Given the description of an element on the screen output the (x, y) to click on. 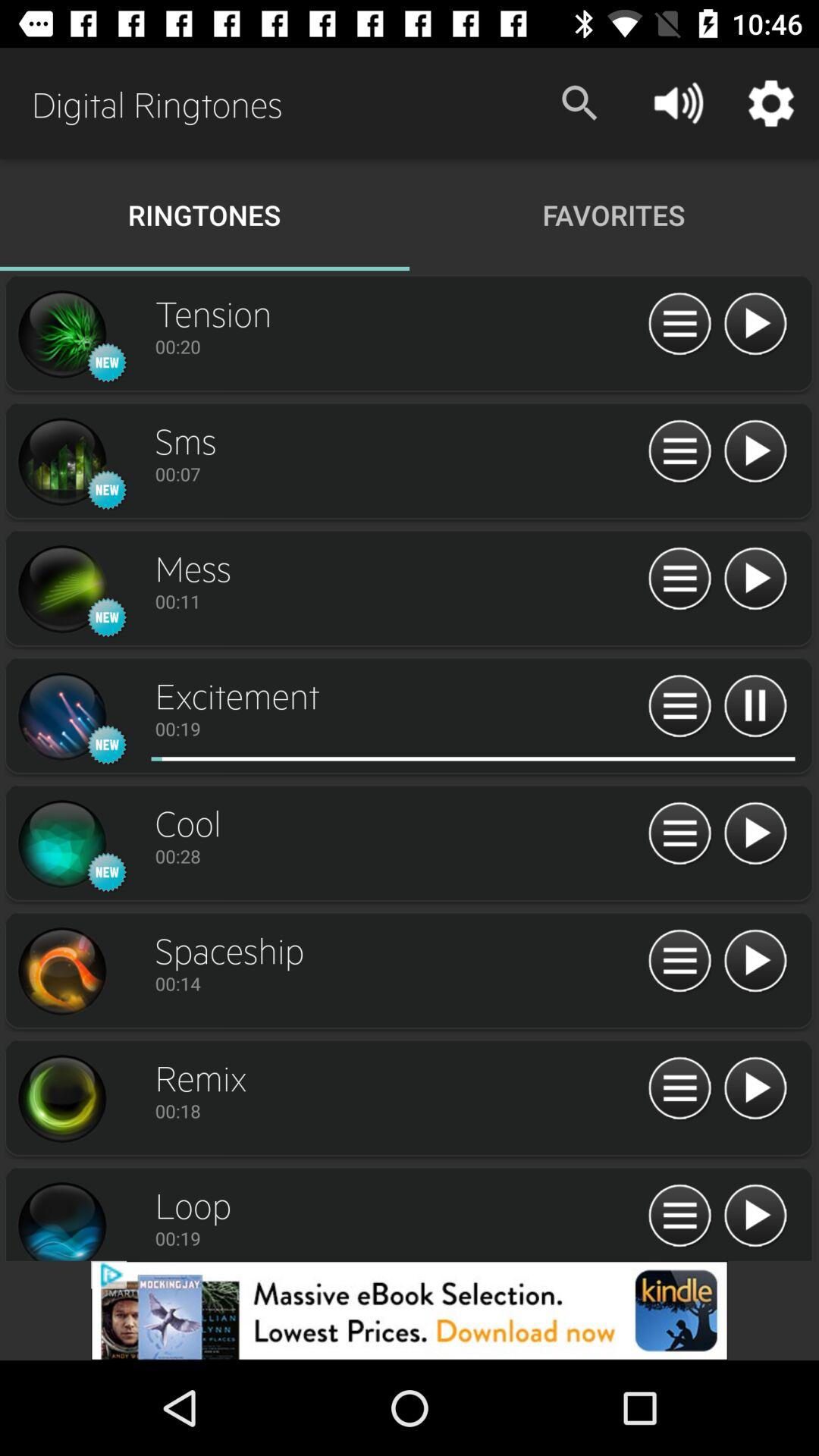
play button (755, 1088)
